Given the description of an element on the screen output the (x, y) to click on. 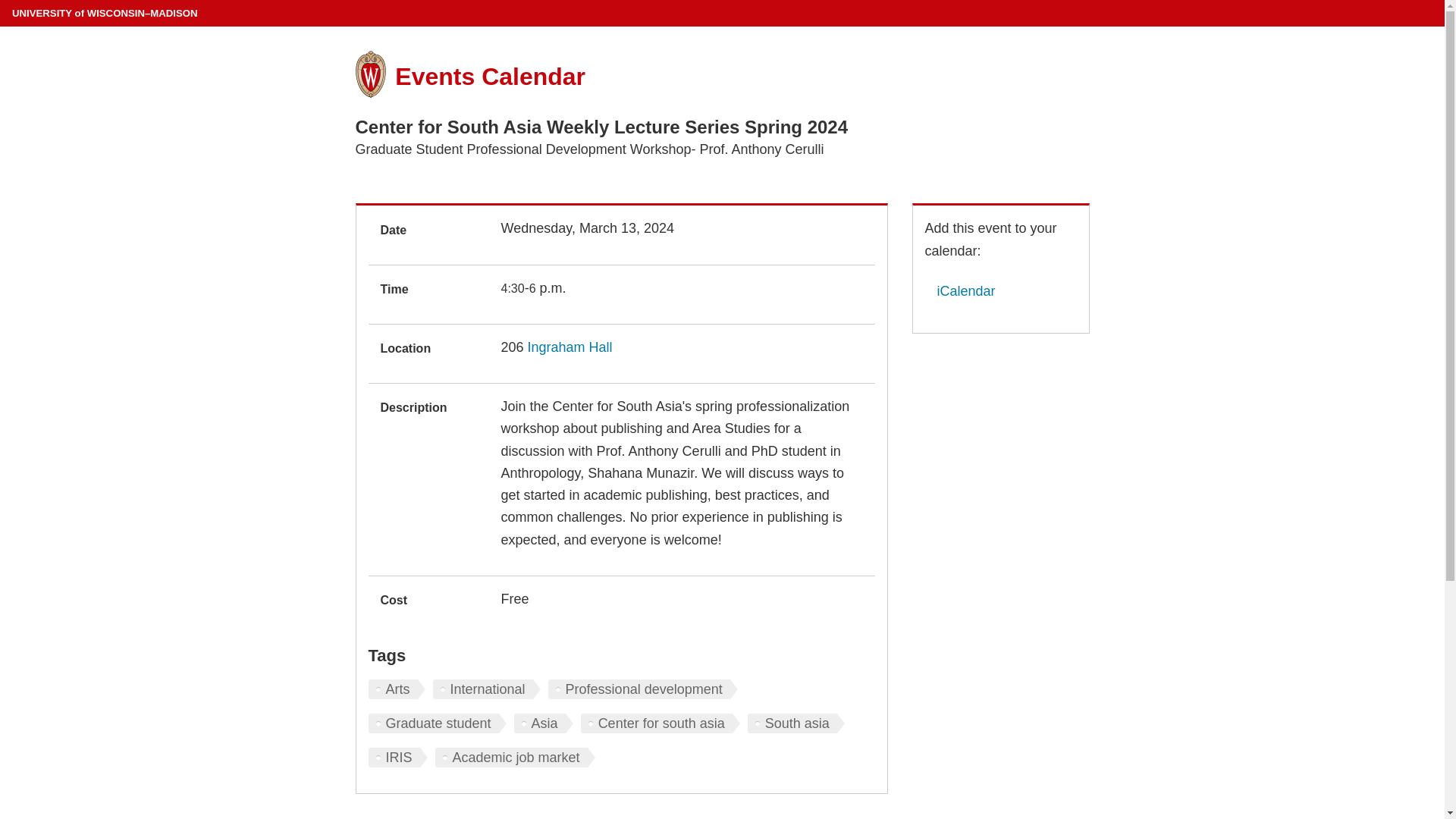
Academic job market (515, 757)
Asia (543, 723)
Arts (396, 689)
South asia (796, 723)
Ingraham Hall (569, 346)
Graduate student (437, 723)
IRIS (398, 757)
Events Calendar (489, 76)
Professional development (643, 689)
Skip to main content (3, 3)
